Given the description of an element on the screen output the (x, y) to click on. 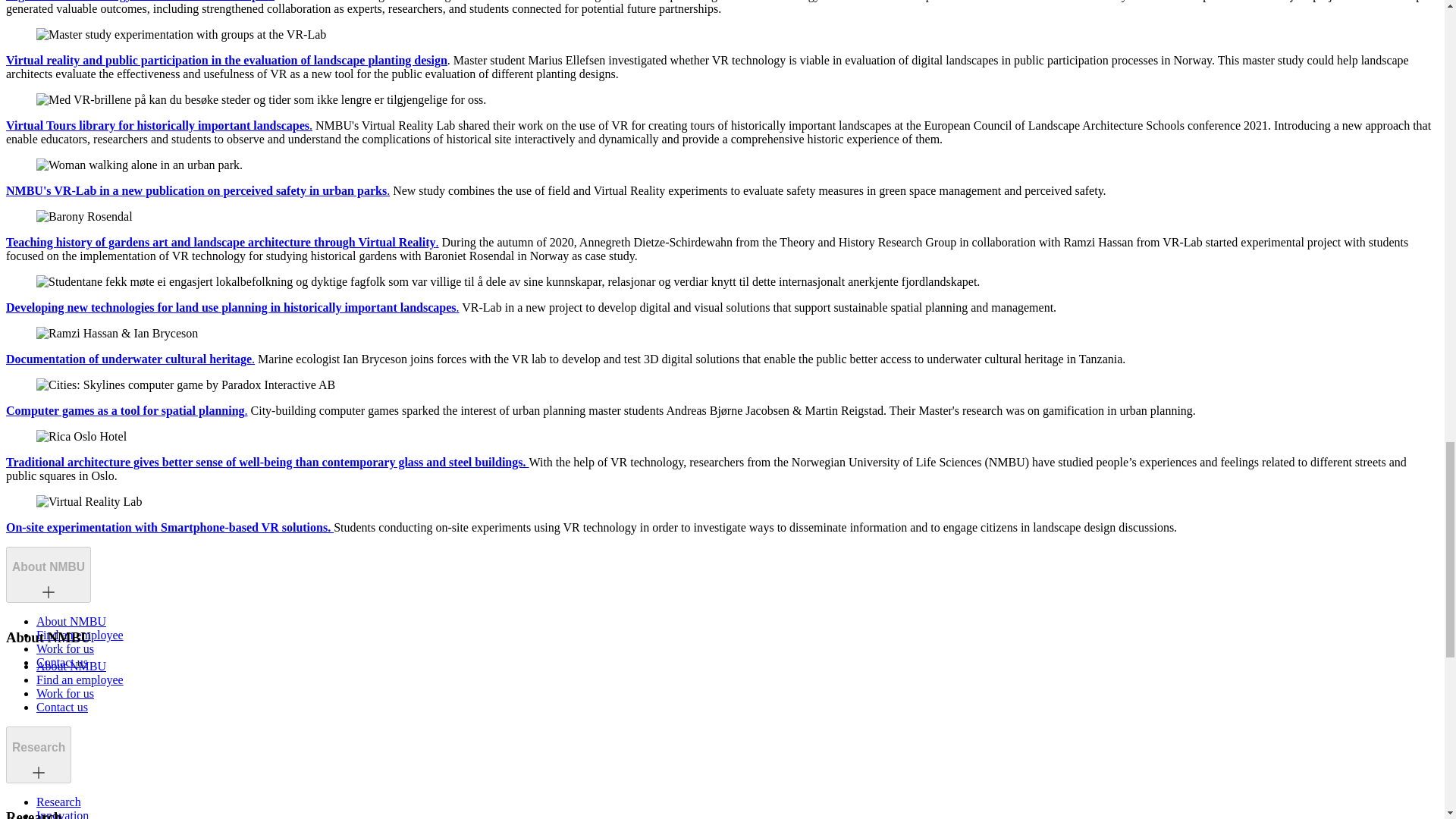
Research (38, 747)
About NMBU (47, 567)
